Given the description of an element on the screen output the (x, y) to click on. 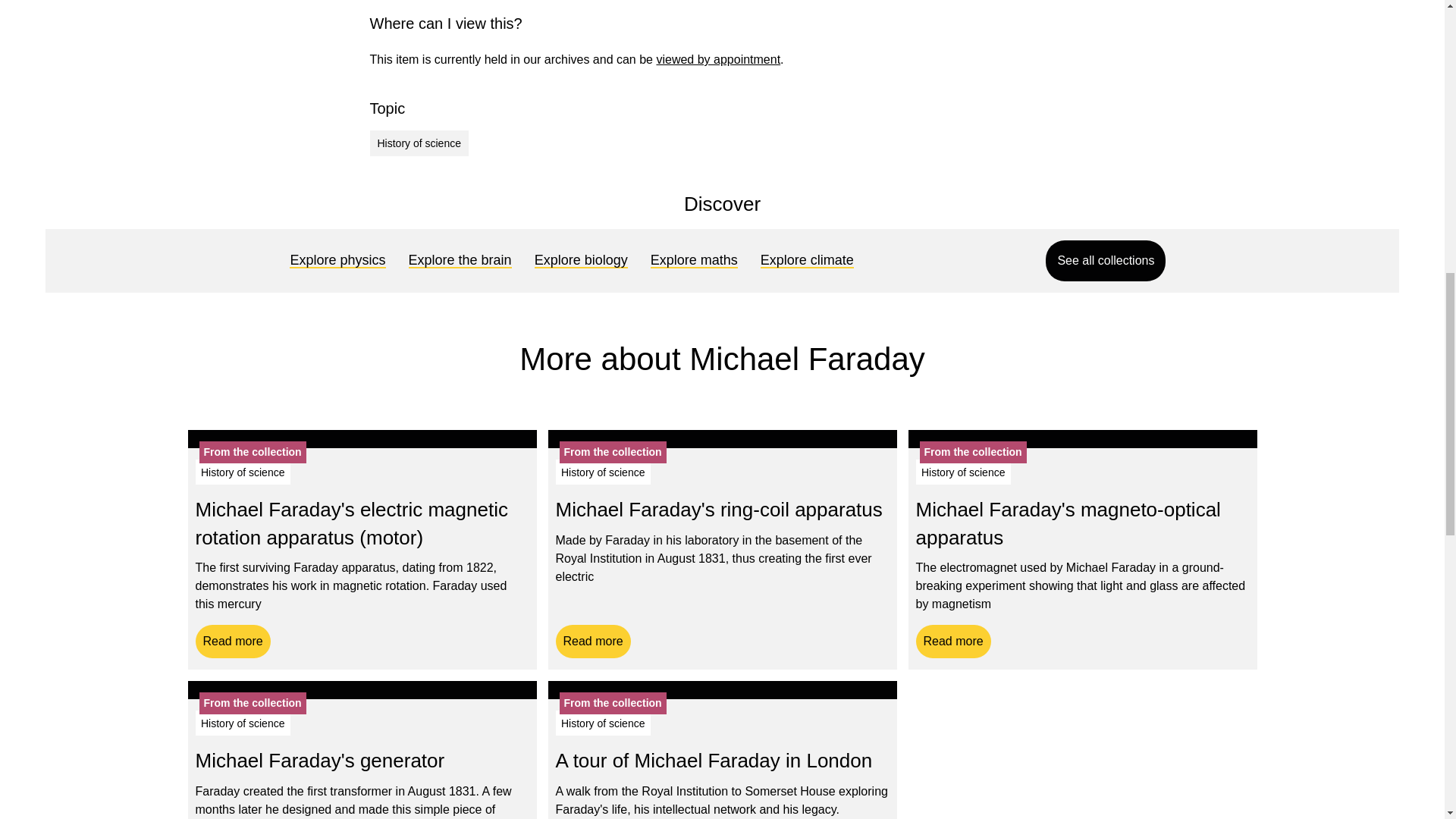
Open Michael Faraday's magneto-optical apparatus (1068, 522)
Open A tour of Michael Faraday in London (713, 760)
Explore physics (337, 260)
Explore maths (694, 260)
Explore climate (806, 260)
Michael Faraday's generator (320, 760)
Michael Faraday's ring-coil apparatus (718, 508)
History of science (419, 143)
Open Michael Faraday's ring-coil apparatus (718, 508)
Open Michael Faraday's ring-coil apparatus (592, 641)
